Given the description of an element on the screen output the (x, y) to click on. 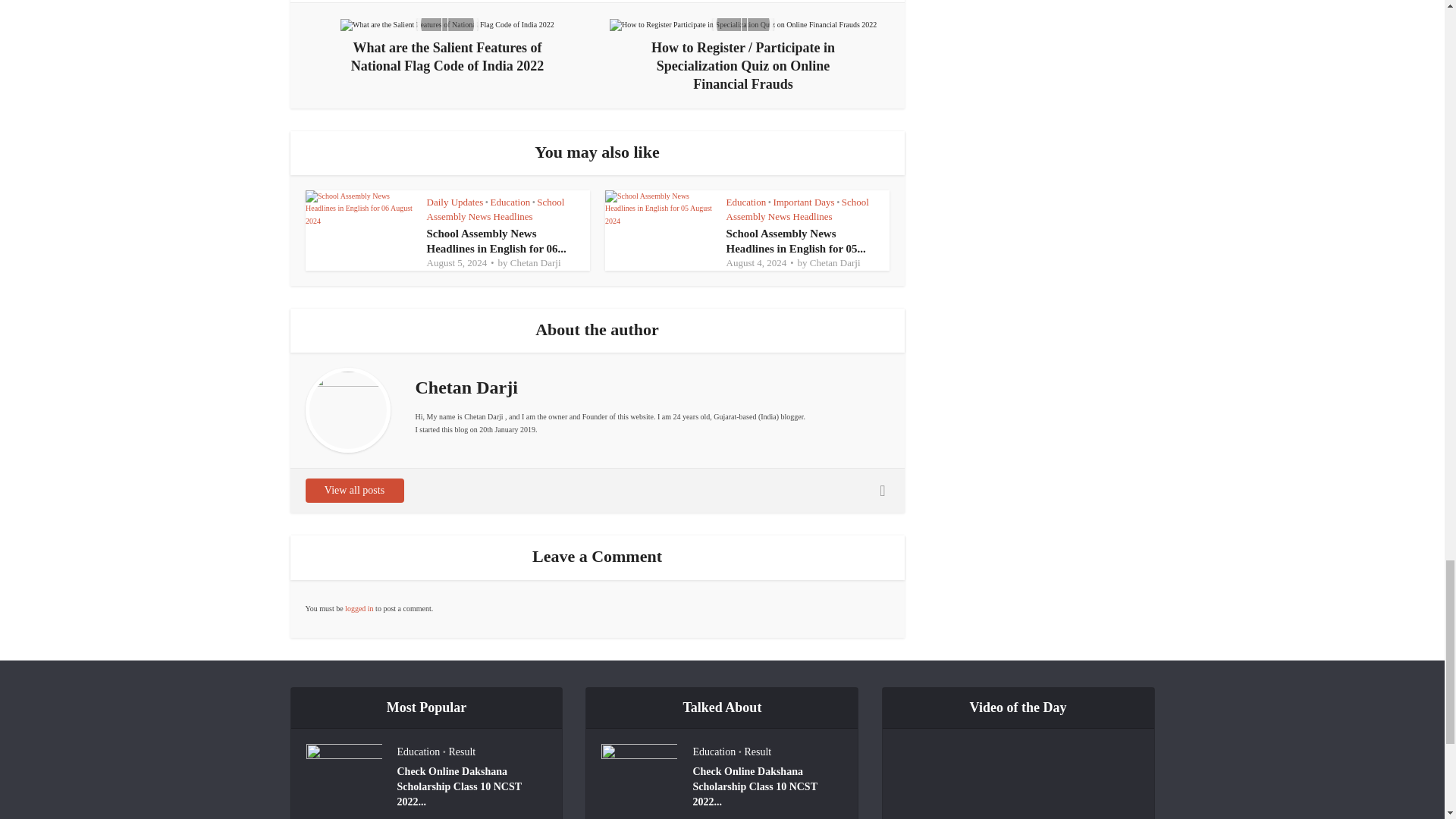
School Assembly News Headlines in English for 05 August 2024 (796, 240)
School Assembly News Headlines in English for 06 August 2024 (496, 240)
